Given the description of an element on the screen output the (x, y) to click on. 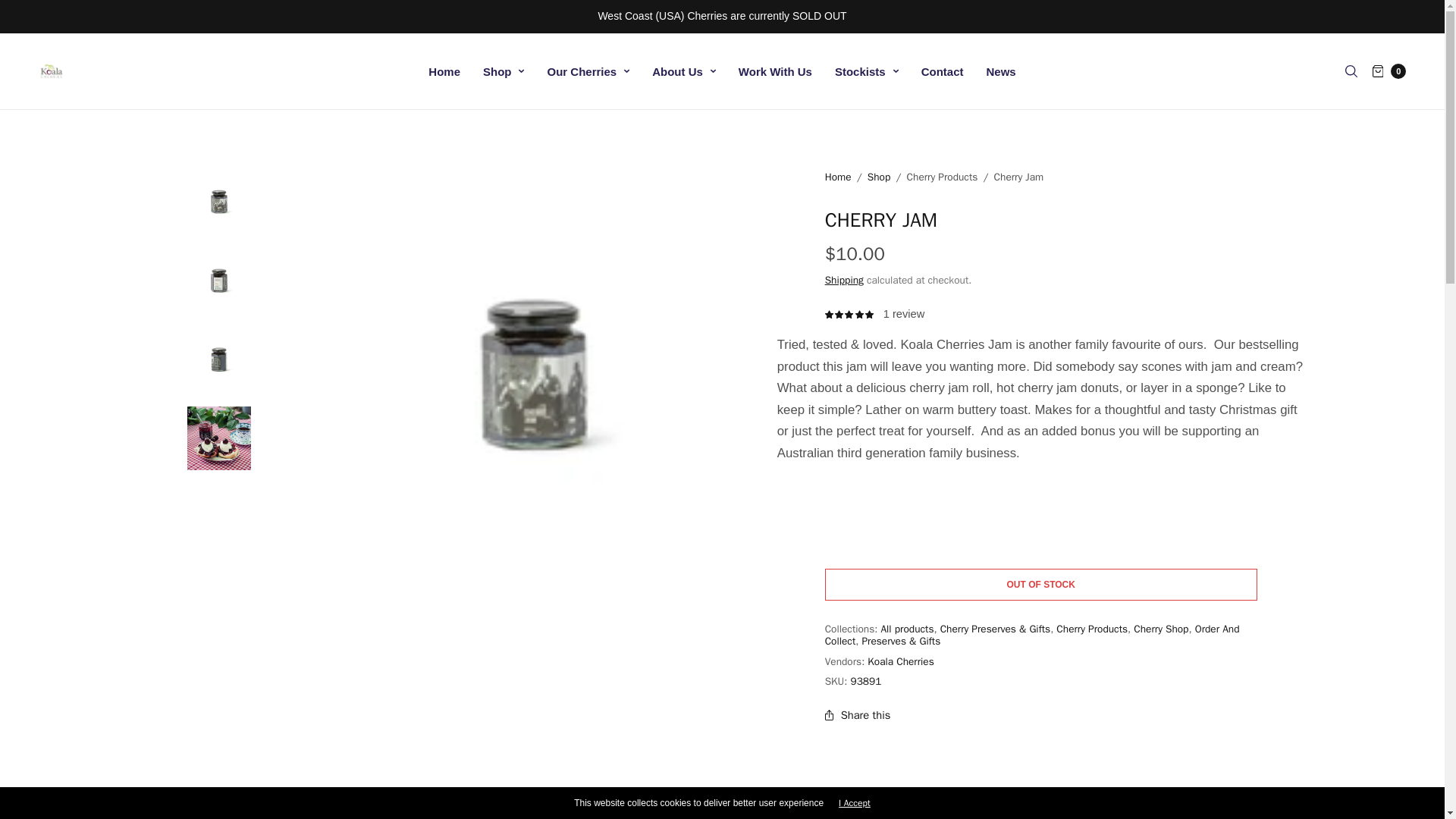
Home (444, 71)
Shop (503, 71)
Stockists (866, 71)
Our Cherries (587, 71)
Home (444, 71)
About Us (684, 71)
Contact (942, 71)
Work With Us (775, 71)
Stockists (866, 71)
About Us (684, 71)
Work With Us (775, 71)
Our Cherries (587, 71)
Shop (503, 71)
